Given the description of an element on the screen output the (x, y) to click on. 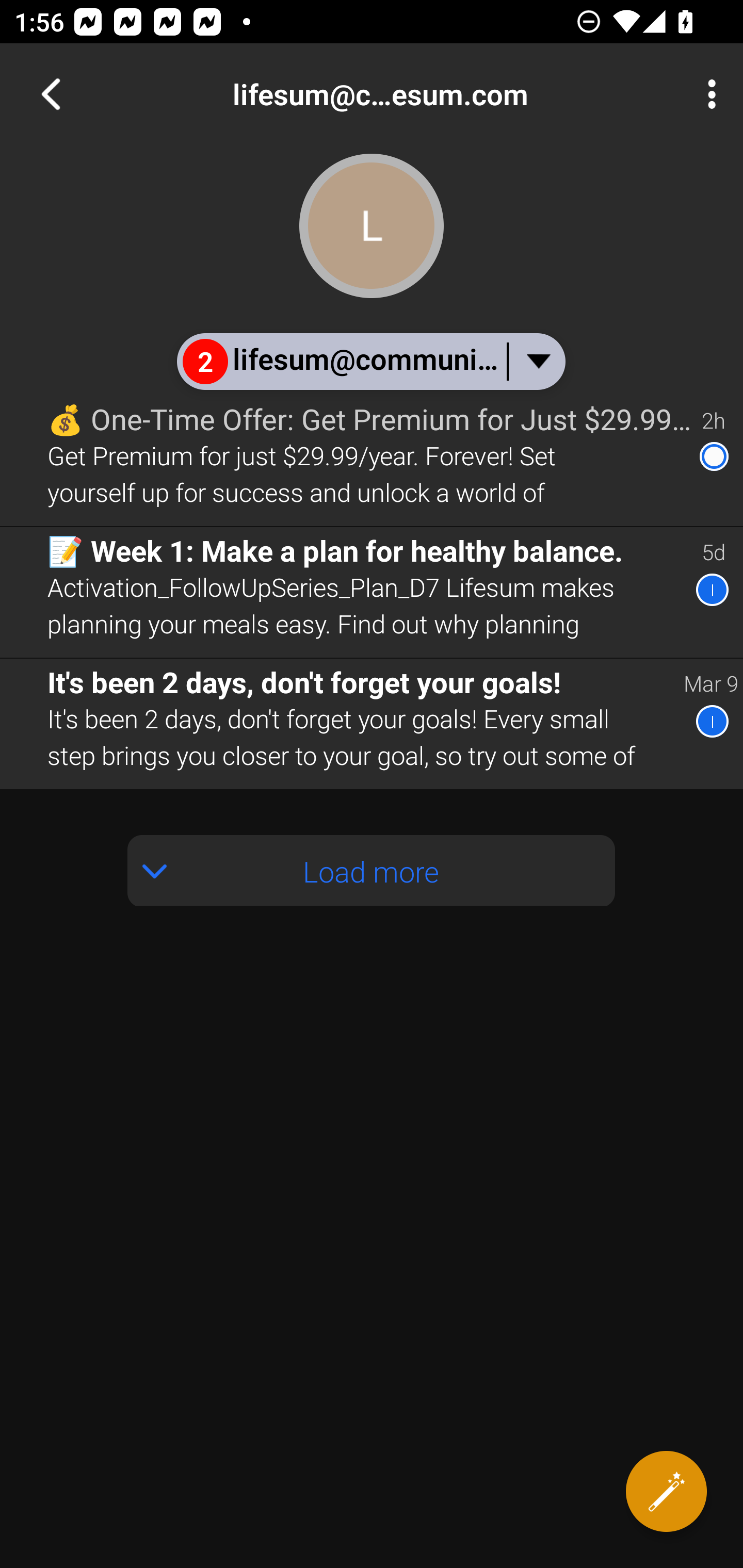
Navigate up (50, 93)
lifesum@communication.lifesum.com (436, 93)
More Options (706, 93)
2 lifesum@communication.lifesum.com & You (370, 361)
Load more (371, 870)
